Given the description of an element on the screen output the (x, y) to click on. 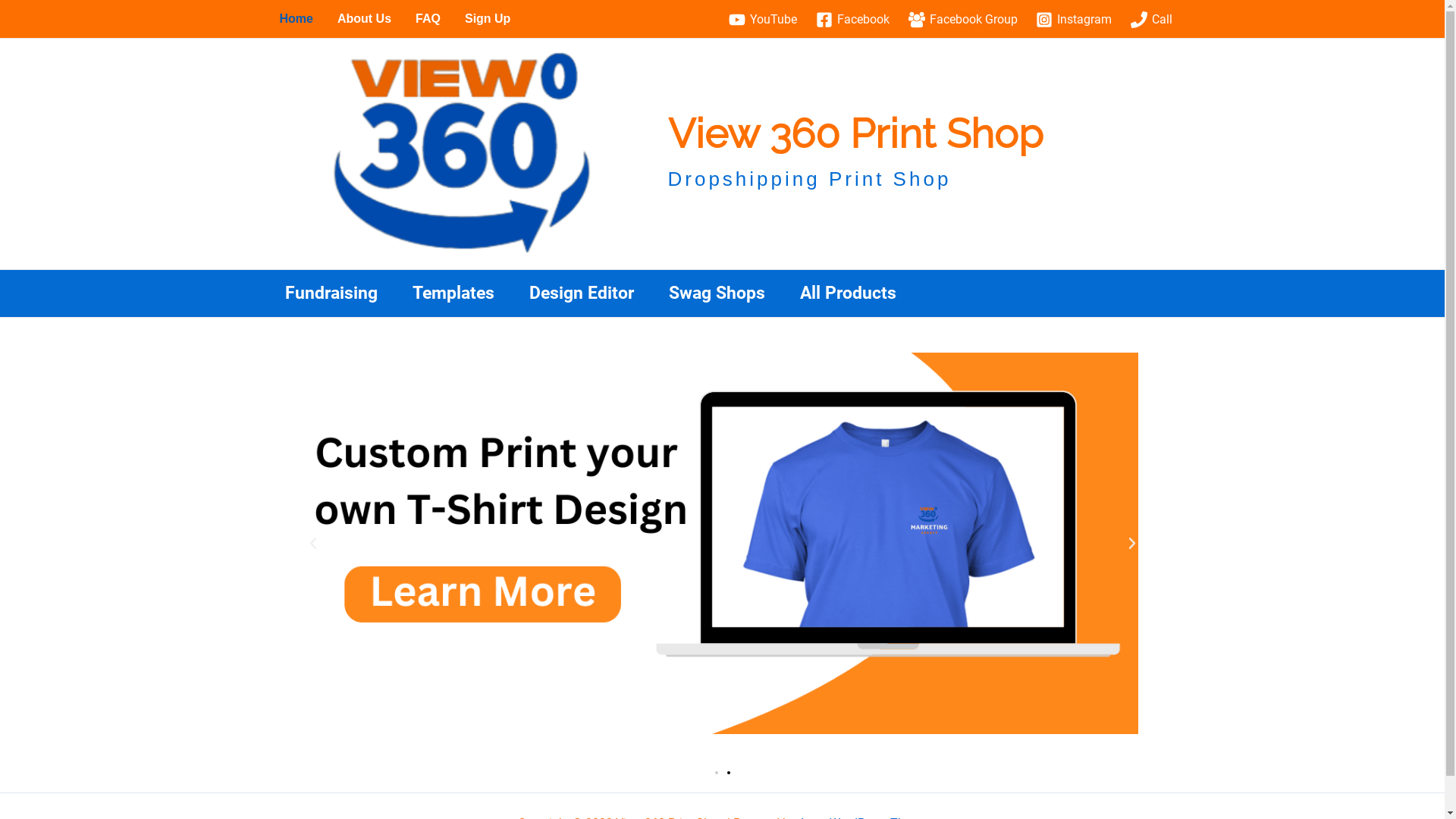
All Products Element type: text (847, 292)
Fundraising Element type: text (330, 292)
Facebook Group Element type: text (962, 19)
YouTube Element type: text (763, 19)
Sign Up Element type: text (487, 18)
Home Element type: text (295, 18)
Design Editor Element type: text (580, 292)
Instagram Element type: text (1074, 19)
About Us Element type: text (364, 18)
FAQ Element type: text (427, 18)
Templates Element type: text (452, 292)
Call Element type: text (1151, 19)
Swag Shops Element type: text (715, 292)
Facebook Element type: text (852, 19)
View 360 Print Shop Element type: text (854, 132)
